Given the description of an element on the screen output the (x, y) to click on. 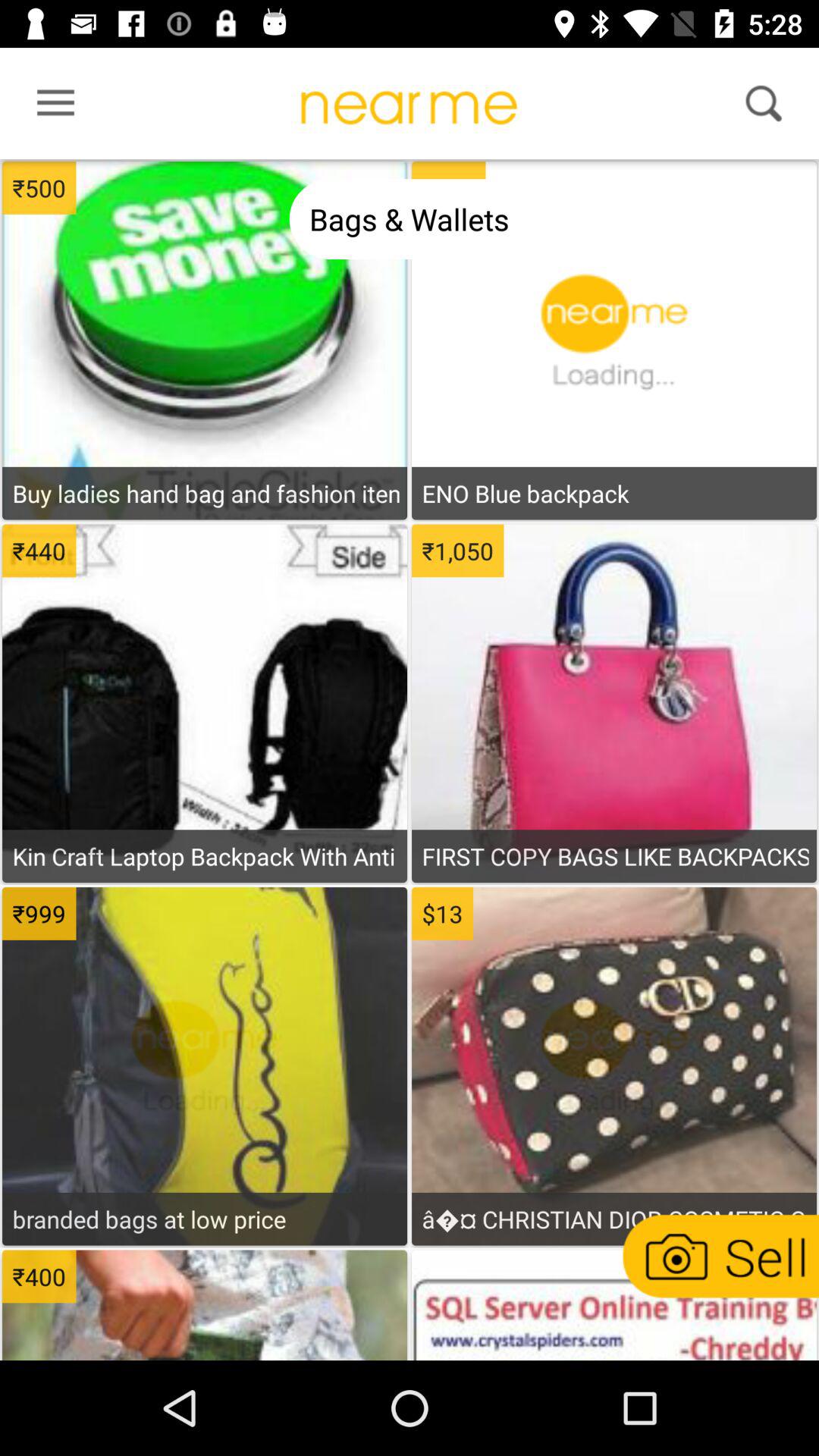
go to advertisement (205, 816)
